Given the description of an element on the screen output the (x, y) to click on. 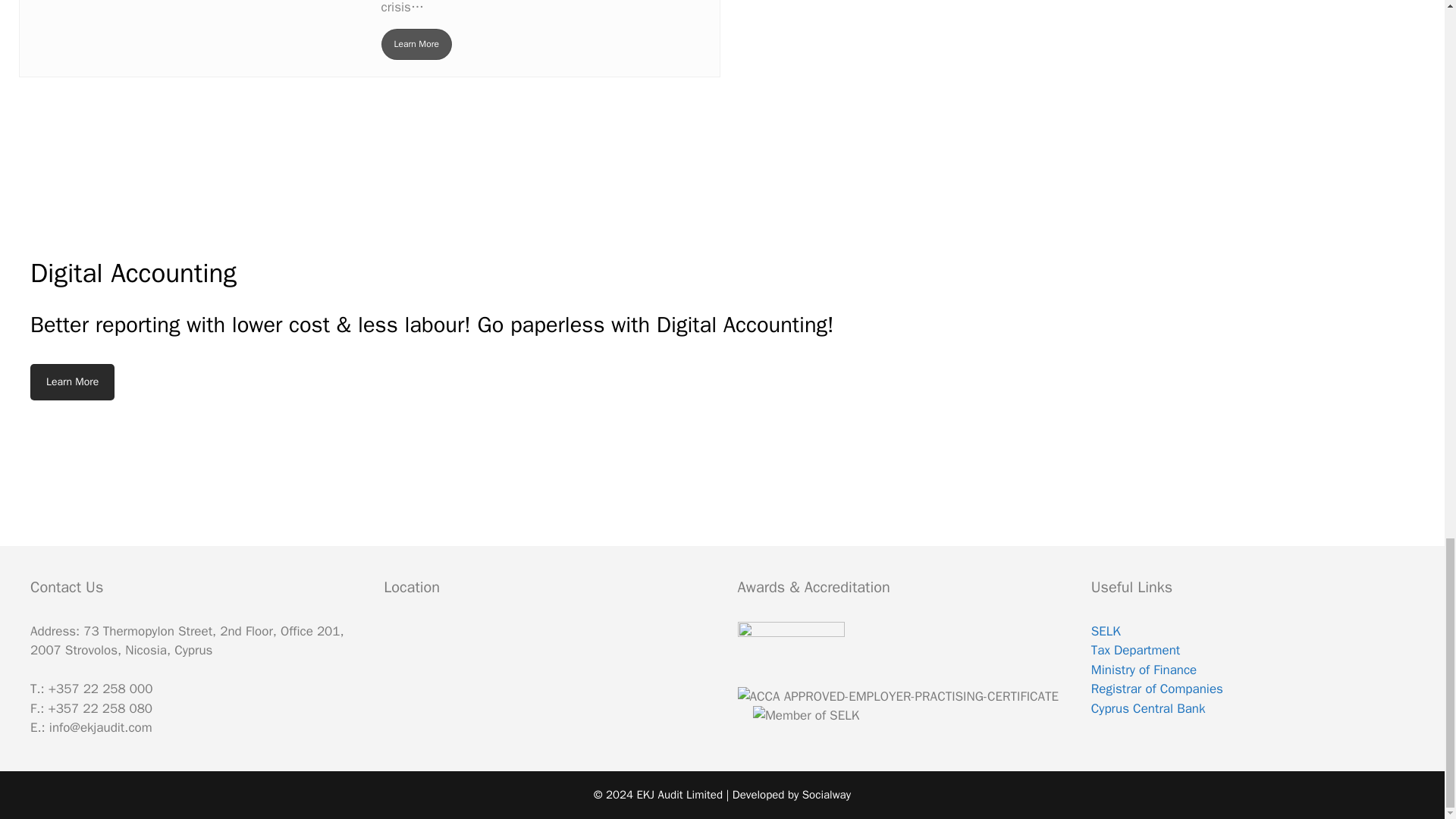
Ministry of Finance (1143, 669)
Socialway (826, 794)
Learn More (72, 381)
Cyprus Central Bank (1147, 708)
Learn More (415, 43)
Tax Department (1134, 650)
Advisory and Insolvency Services (415, 43)
Registrar of Companies (1156, 688)
SELK (1105, 631)
